Given the description of an element on the screen output the (x, y) to click on. 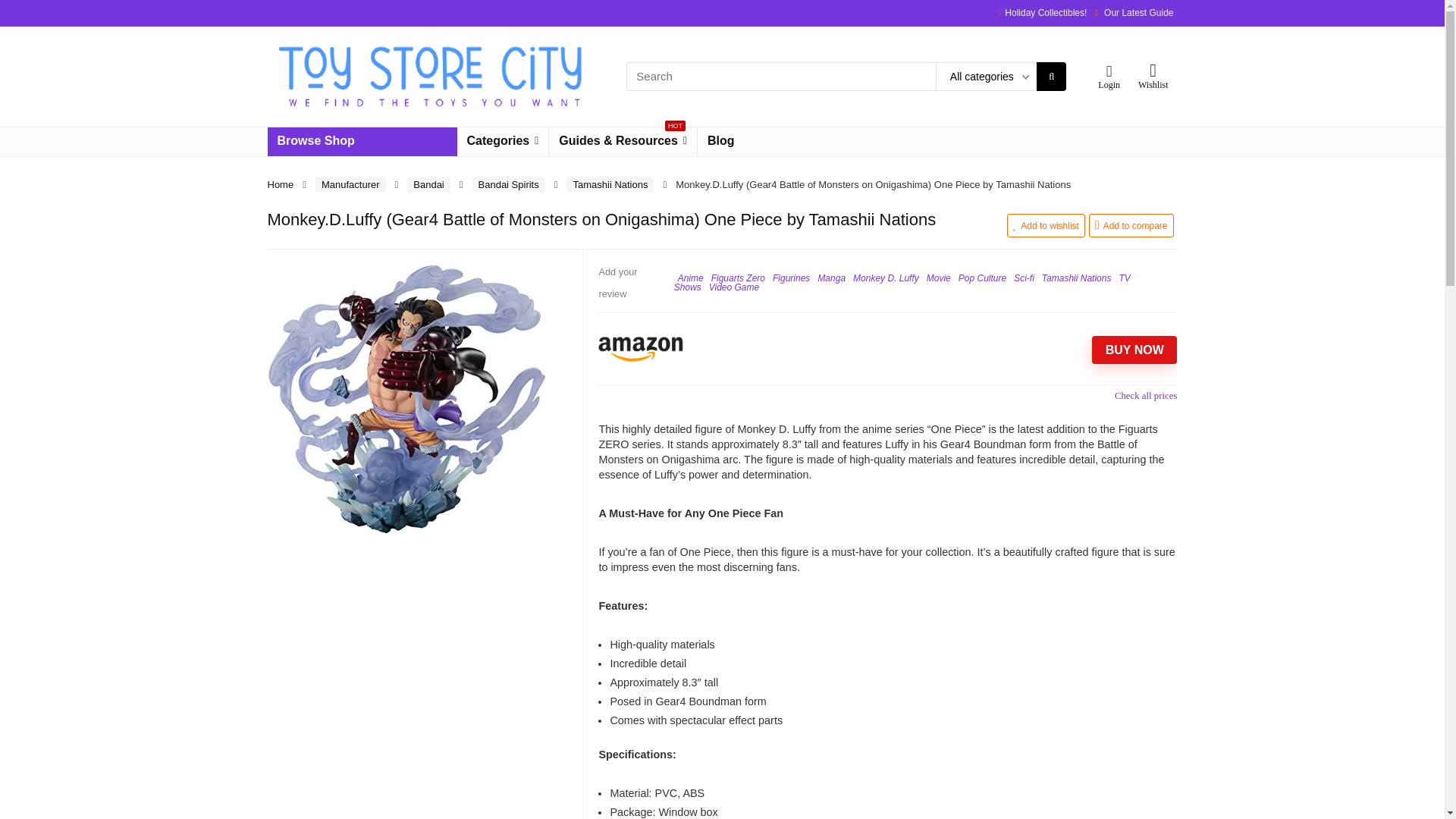
Browse Shop (360, 141)
View all posts in Tamashii Nations (1077, 277)
View all posts in Monkey D. Luffy (885, 277)
View all posts in Movie (938, 277)
View all posts in Figurines (791, 277)
View all posts in Manga (830, 277)
View all posts in Sci-fi (1023, 277)
Check all prices (887, 395)
Categories (502, 141)
View all posts in Figuarts Zero (738, 277)
View all posts in Anime (690, 277)
View all posts in Pop Culture (982, 277)
Our Latest Guide (1138, 12)
Add your review (617, 281)
Holiday Collectibles! (1045, 12)
